Given the description of an element on the screen output the (x, y) to click on. 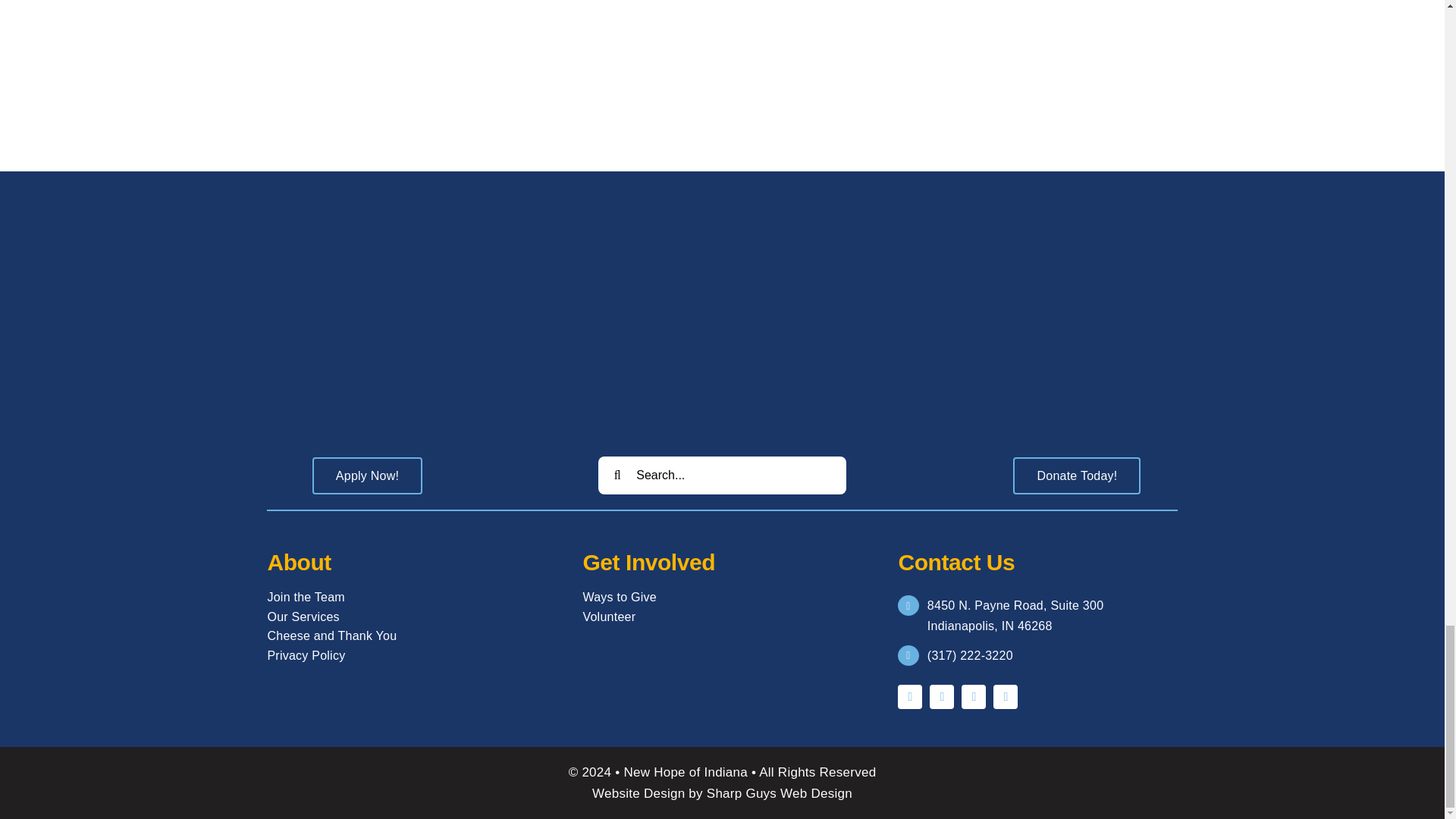
Instagram (972, 696)
X (941, 696)
Facebook (909, 696)
LinkedIn (1004, 696)
